Given the description of an element on the screen output the (x, y) to click on. 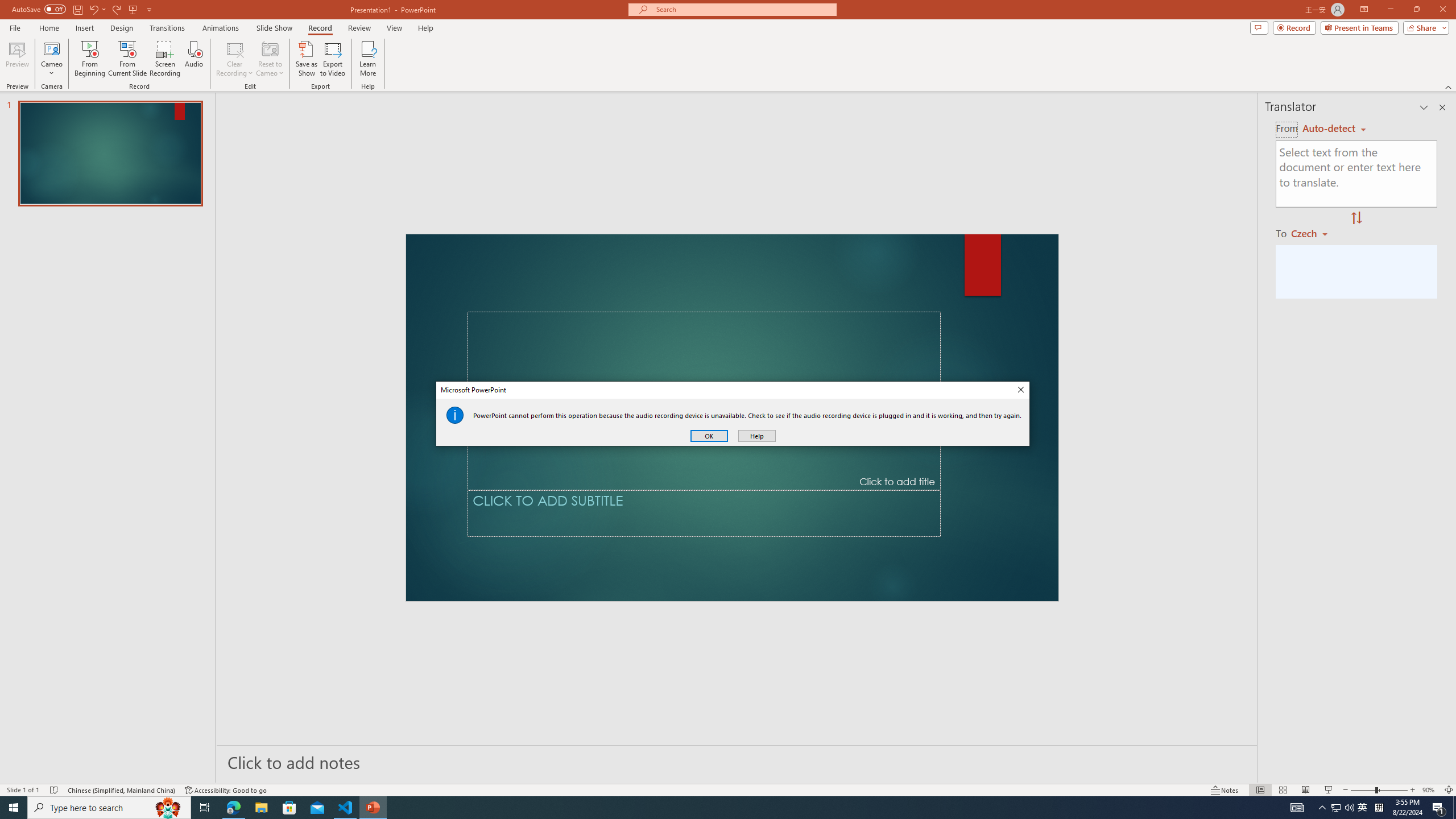
Class: Static (454, 415)
Czech (1313, 232)
